Given the description of an element on the screen output the (x, y) to click on. 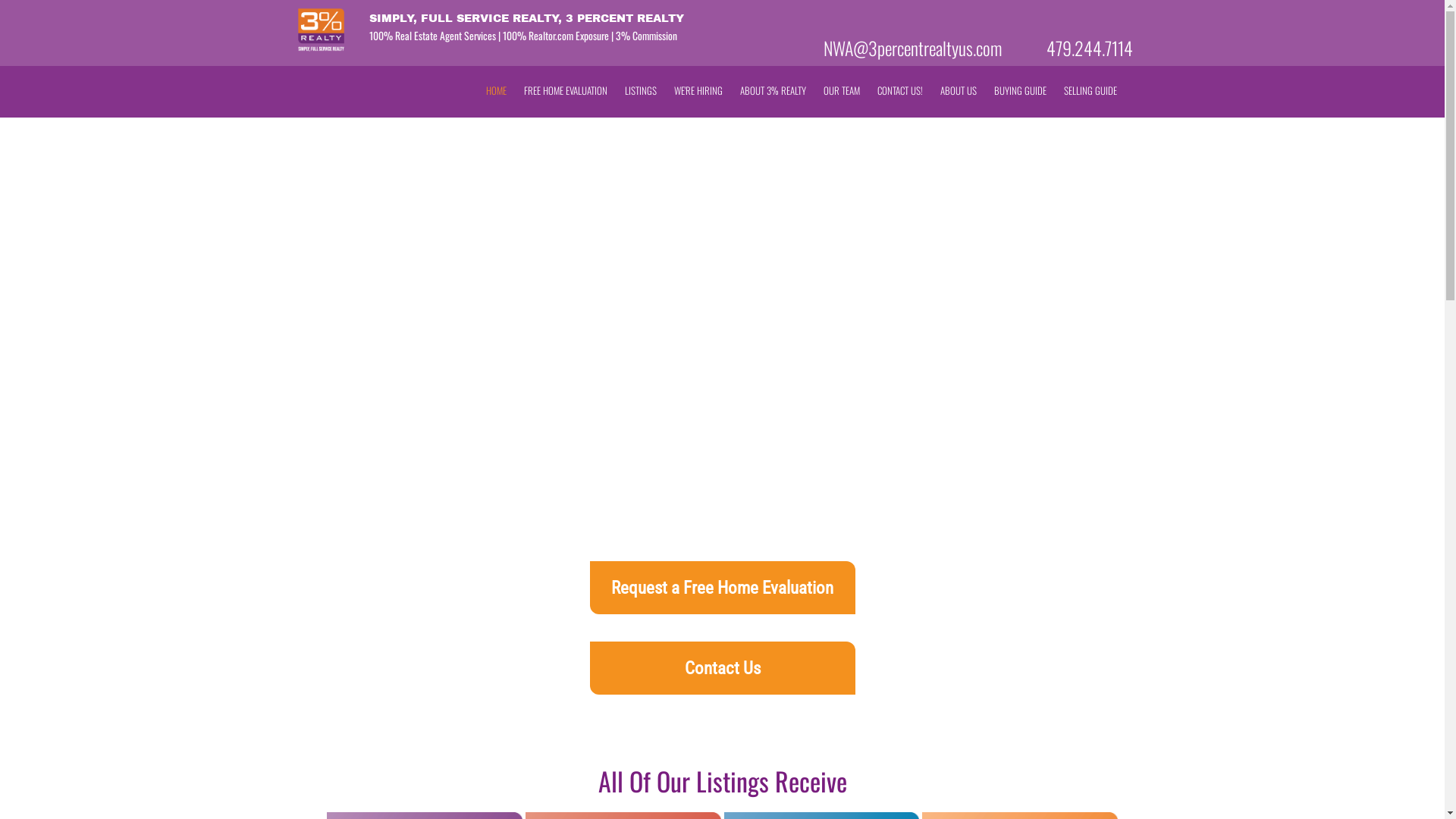
OUR TEAM Element type: text (841, 90)
WE'RE HIRING Element type: text (697, 90)
LISTINGS Element type: text (640, 90)
Contact Us Element type: text (722, 667)
CONTACT US! Element type: text (899, 90)
NWA@3percentrealtyus.com Element type: text (912, 47)
BUYING GUIDE Element type: text (1019, 90)
Request a Free Home Evaluation Element type: text (722, 587)
479.244.7114 Element type: text (1089, 47)
ABOUT 3% REALTY Element type: text (772, 90)
ABOUT US Element type: text (958, 90)
SELLING GUIDE Element type: text (1089, 90)
FREE HOME EVALUATION Element type: text (564, 90)
HOME Element type: text (495, 90)
